Given the description of an element on the screen output the (x, y) to click on. 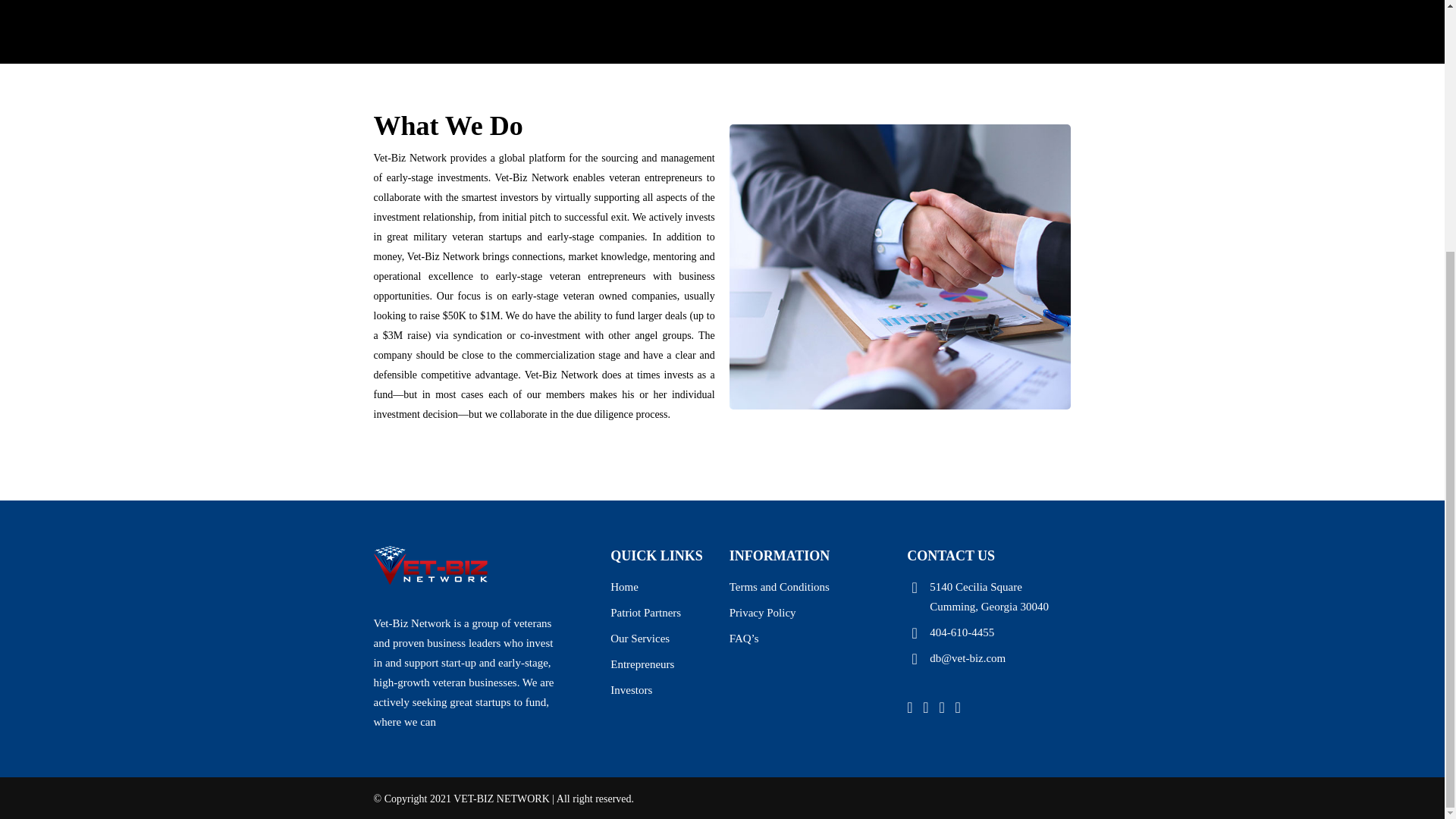
Patriot Partners (662, 612)
Privacy Policy (811, 612)
Home (662, 587)
VET-BIZ NETWORK (501, 798)
Terms and Conditions (811, 587)
Entrepreneurs (662, 664)
404-610-4455 (988, 632)
Our Services (662, 638)
Investors (662, 690)
